Given the description of an element on the screen output the (x, y) to click on. 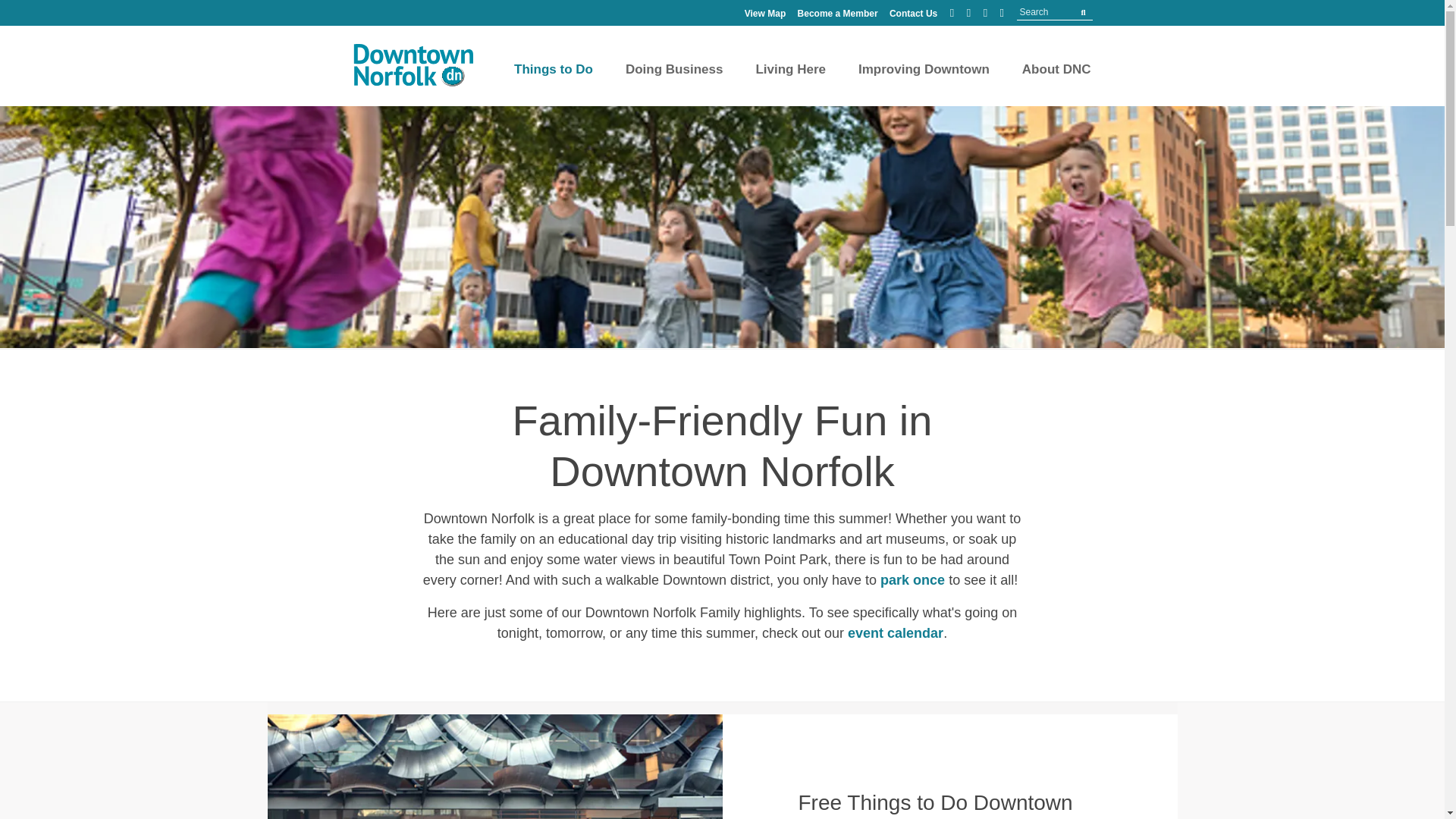
submit (1083, 12)
View Map (765, 13)
Contact Us (913, 13)
Things to Do (552, 80)
Become a Member (837, 13)
